Given the description of an element on the screen output the (x, y) to click on. 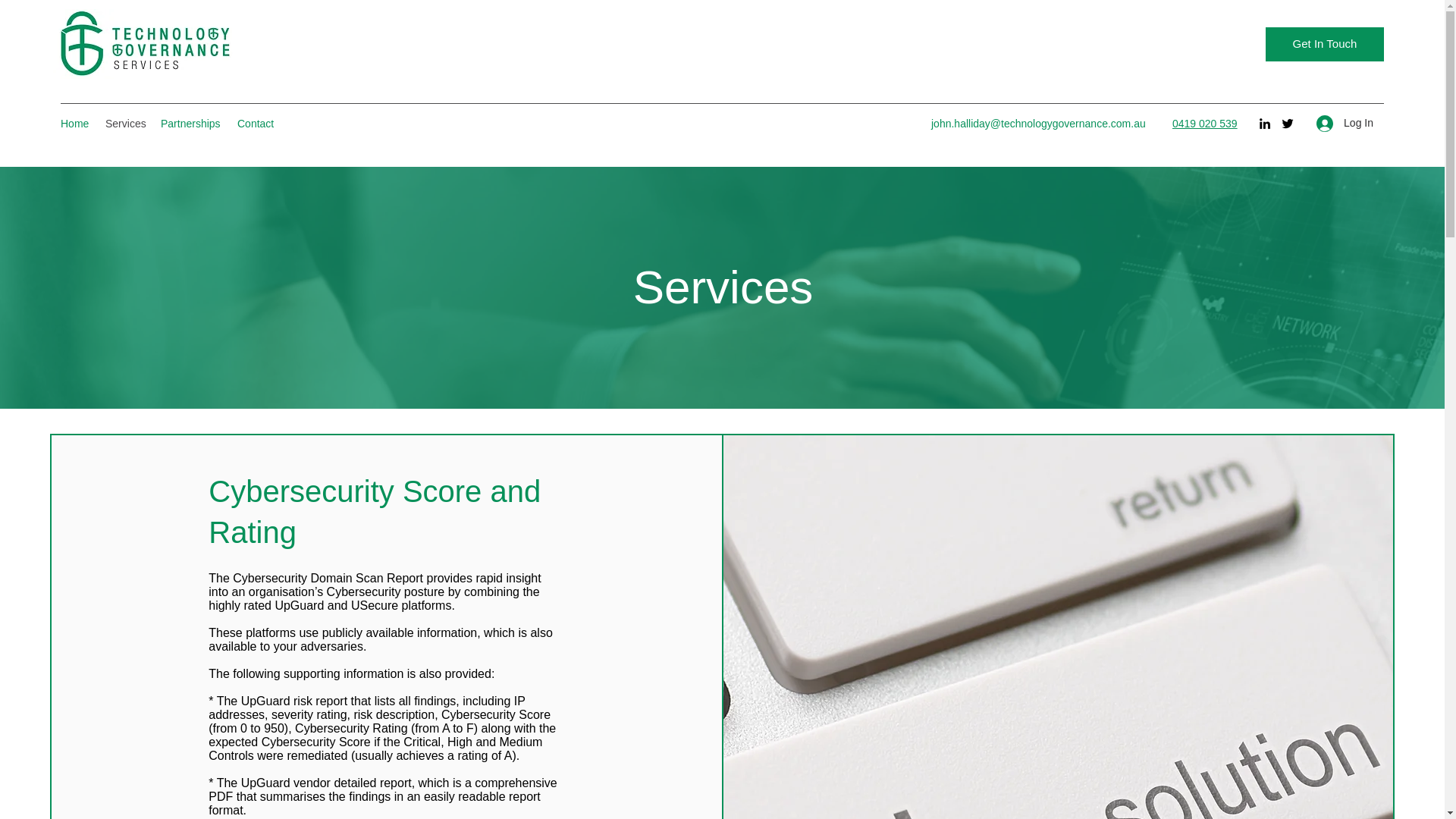
Log In (1345, 122)
Services (124, 123)
Contact (256, 123)
Get In Touch (1324, 44)
Home (74, 123)
0419 020 539 (1204, 123)
Partnerships (191, 123)
